Given the description of an element on the screen output the (x, y) to click on. 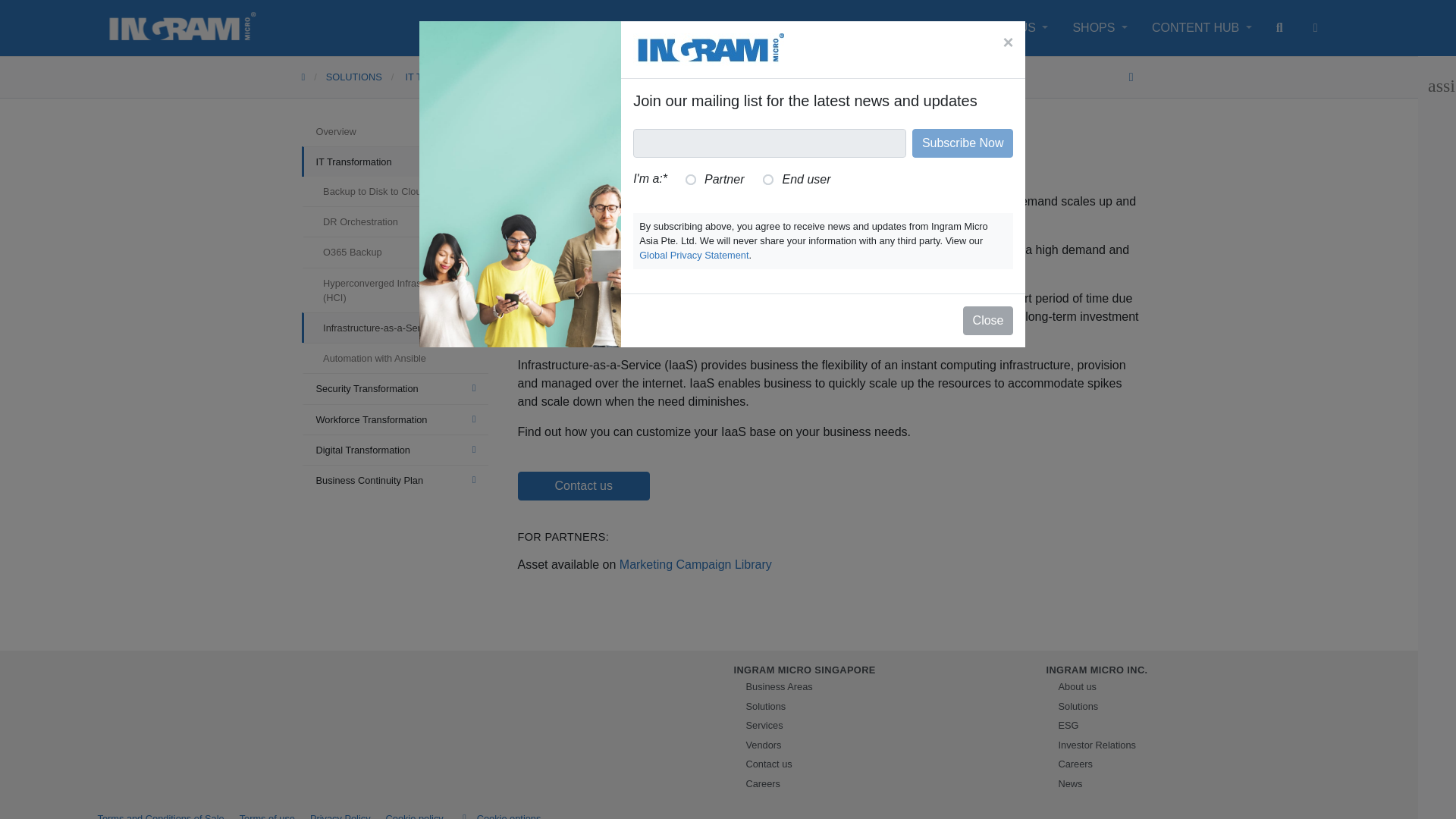
SOLUTIONS (725, 27)
SERVICES (827, 27)
CONTENT HUB (1201, 27)
ABOUT US (1009, 27)
Home (313, 76)
VENDORS (918, 27)
Subscribe Now (962, 143)
SHOPS (1099, 27)
BUSINESS AREAS (601, 27)
Ingram Micro (182, 28)
